Given the description of an element on the screen output the (x, y) to click on. 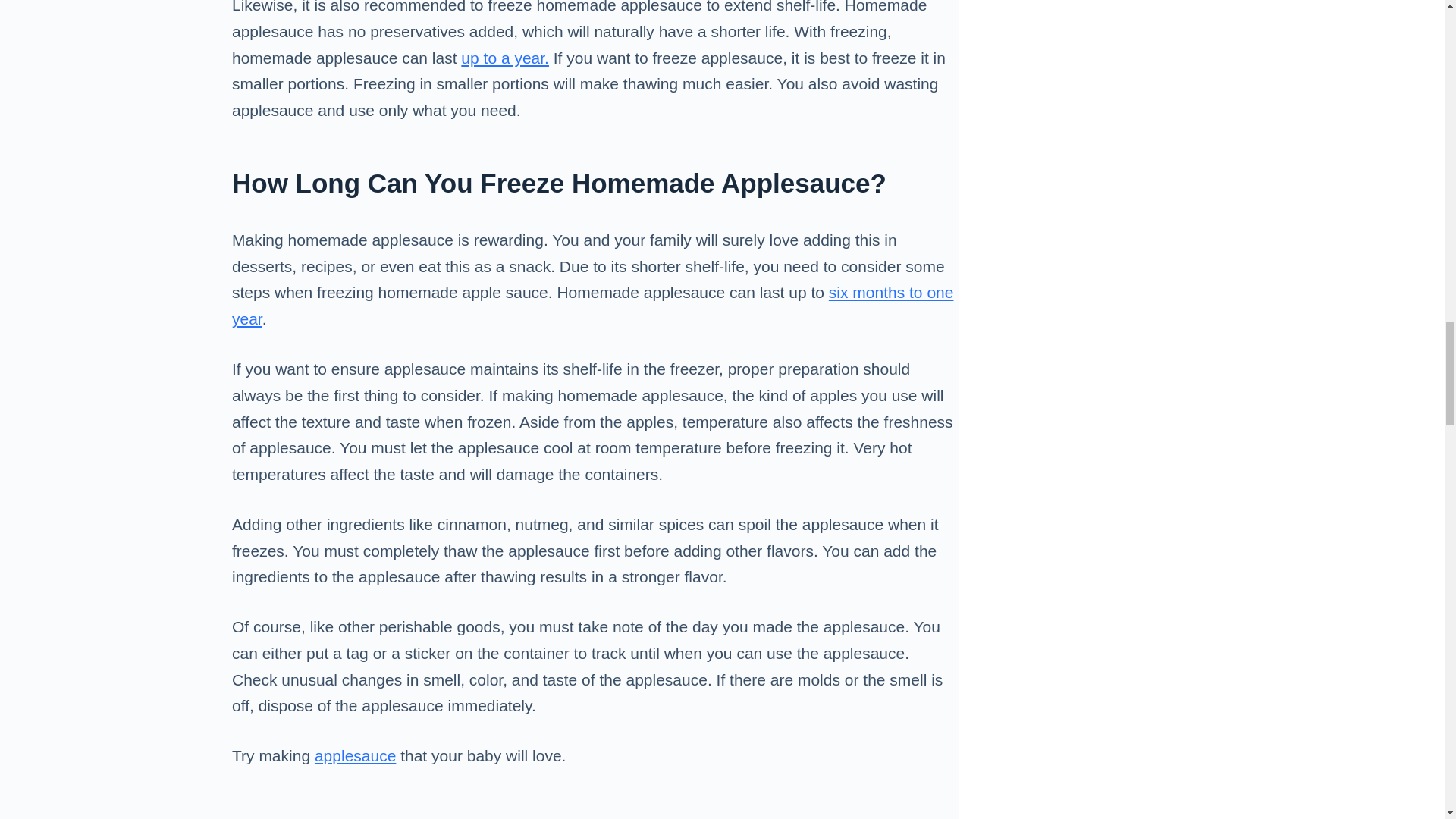
six months to one year (592, 305)
applesauce (355, 755)
up to a year. (504, 57)
